Given the description of an element on the screen output the (x, y) to click on. 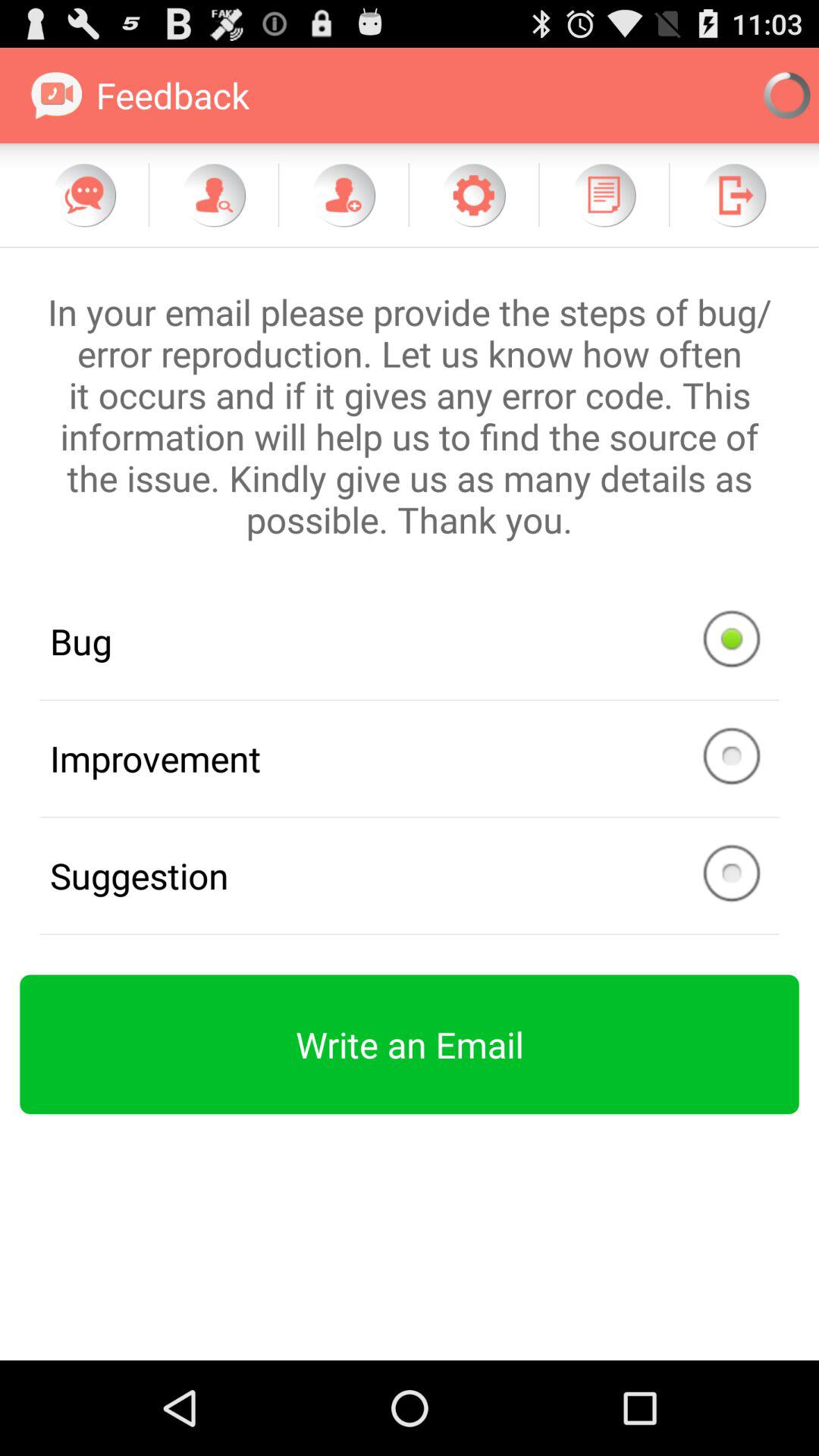
scroll until the write an email item (409, 1044)
